Given the description of an element on the screen output the (x, y) to click on. 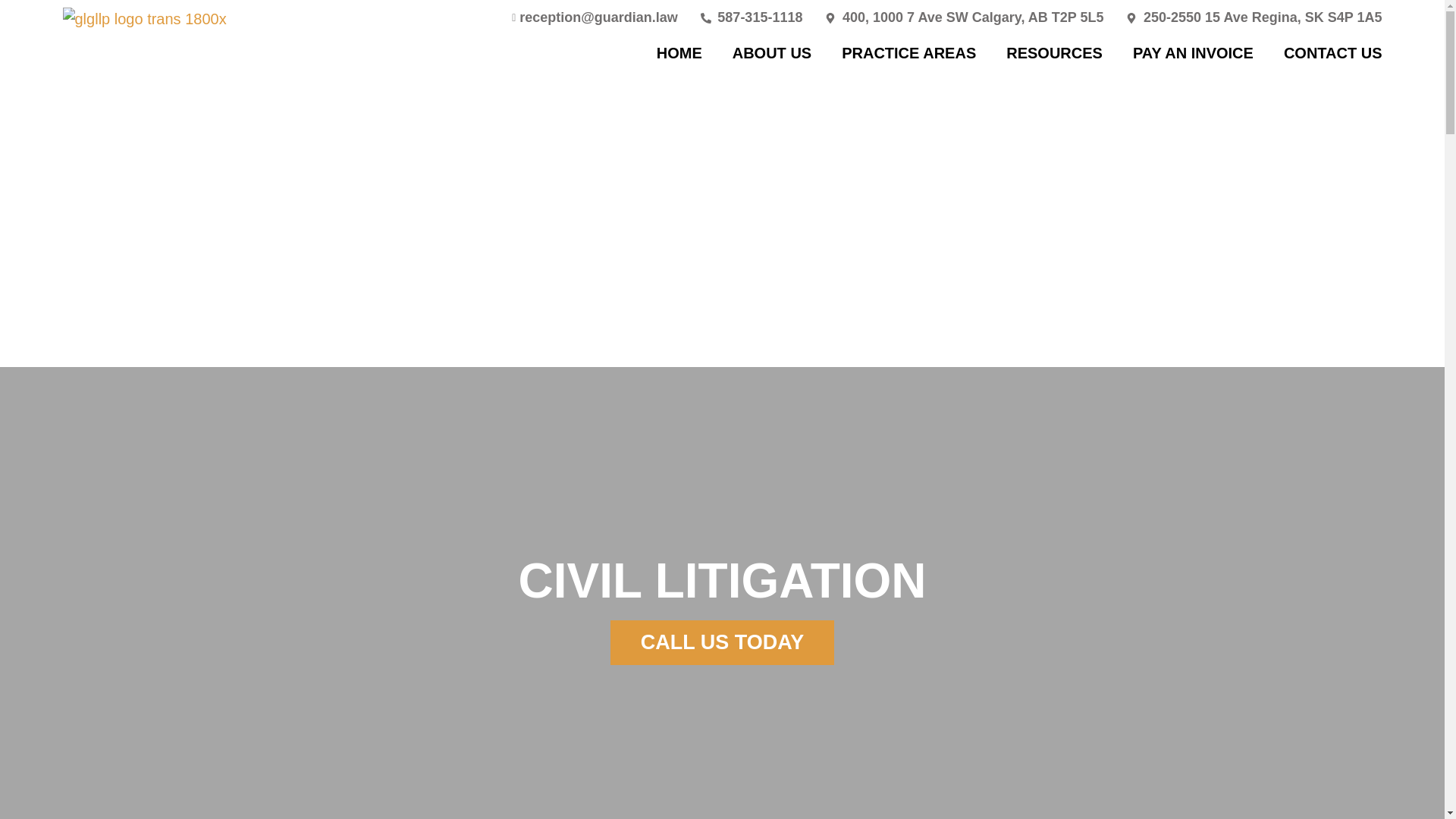
587-315-1118 (751, 17)
PRACTICE AREAS (908, 53)
PAY AN INVOICE (1192, 53)
CONTACT US (1332, 53)
RESOURCES (1054, 53)
ABOUT US (771, 53)
HOME (678, 53)
